Given the description of an element on the screen output the (x, y) to click on. 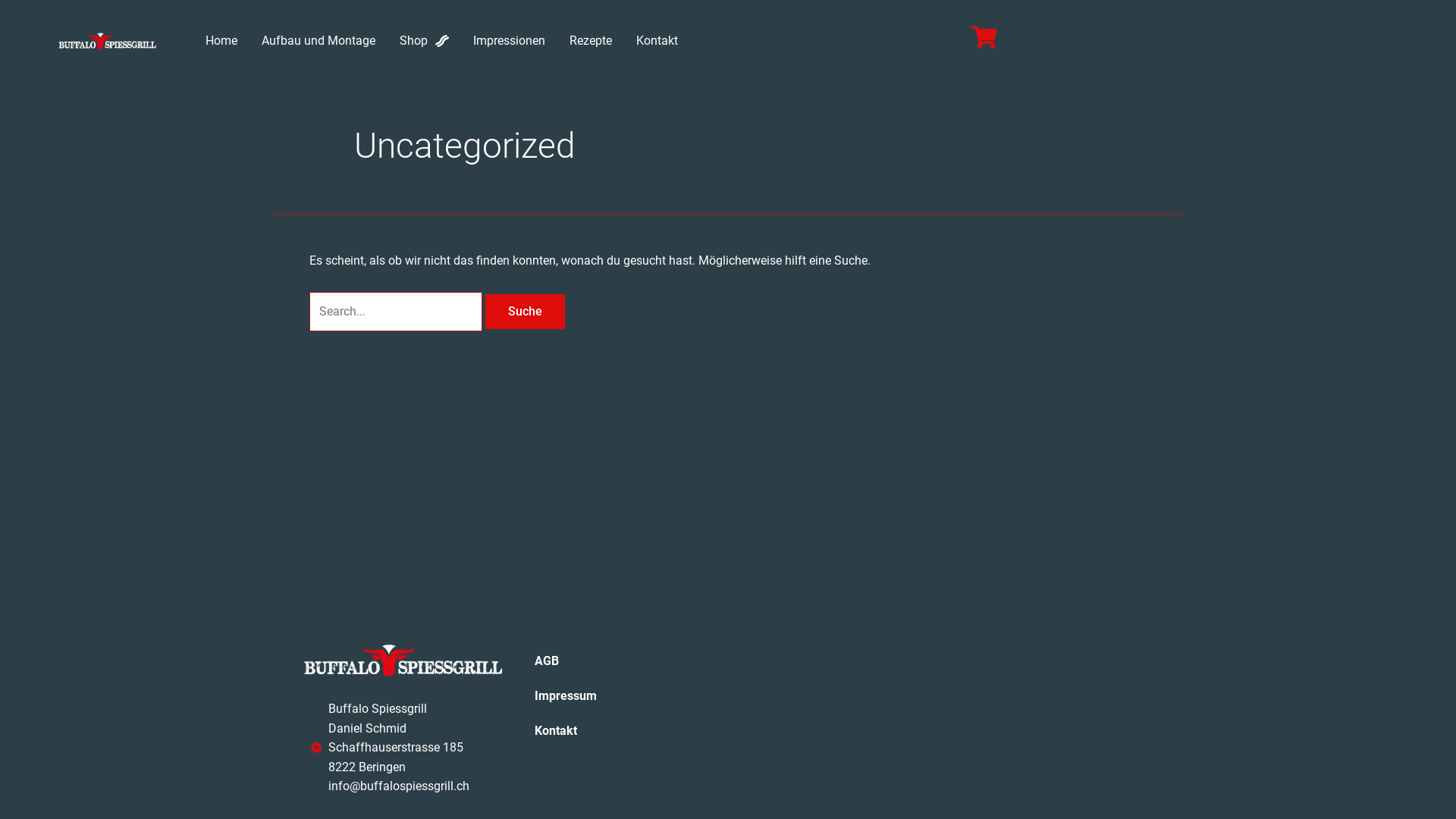
Aufbau und Montage Element type: text (318, 40)
Rezepte Element type: text (590, 40)
Kontakt Element type: text (656, 40)
AGB Element type: text (619, 660)
Impressum Element type: text (619, 695)
Home Element type: text (221, 40)
Shop Element type: text (423, 40)
Suche Element type: text (524, 311)
Kontakt Element type: text (619, 730)
Impressionen Element type: text (509, 40)
